Given the description of an element on the screen output the (x, y) to click on. 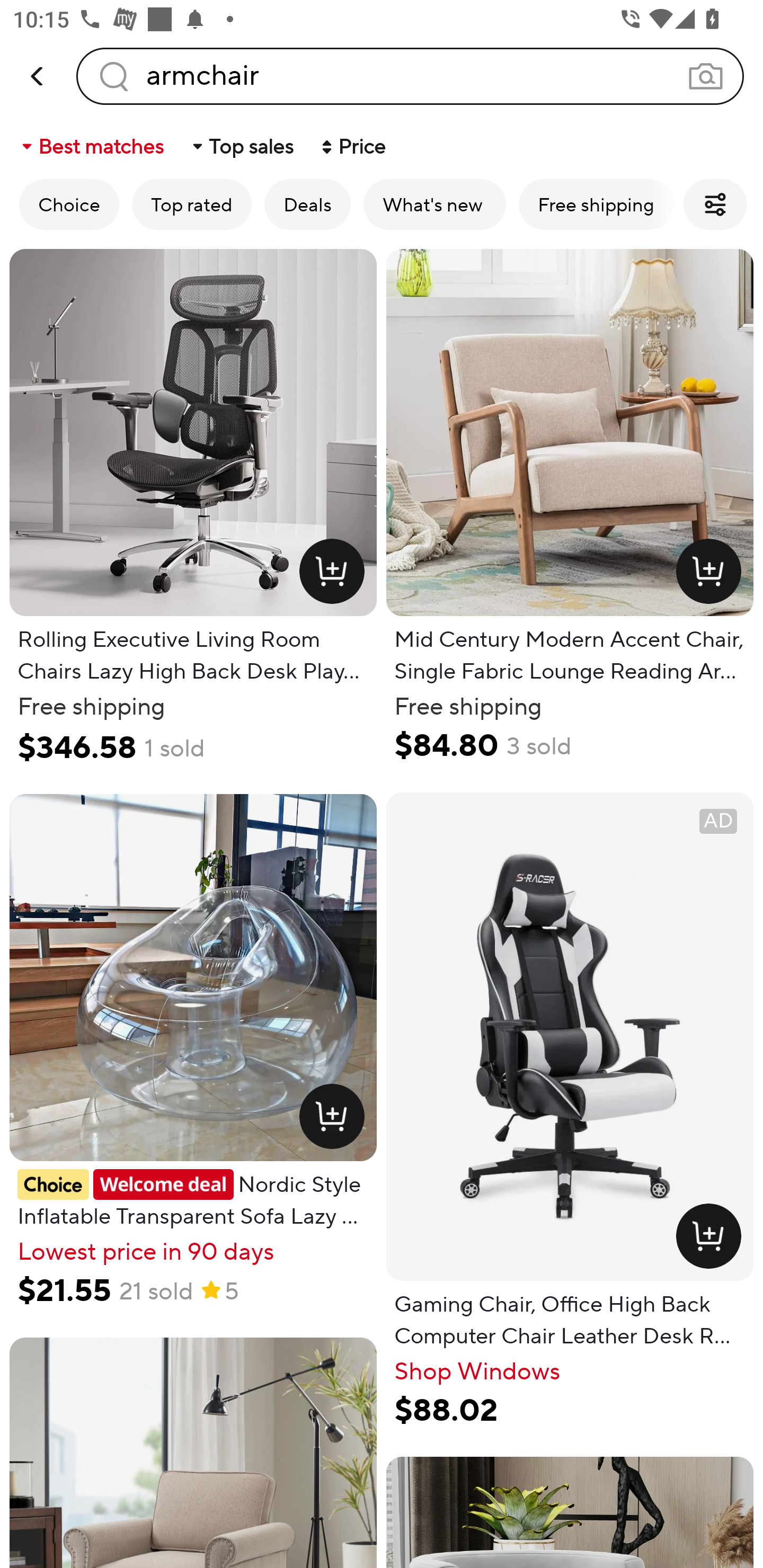
back (38, 75)
armchair Search query (409, 76)
armchair Search query (409, 76)
Best matches (91, 146)
Top sales (241, 146)
Price (352, 146)
Choice (69, 204)
Top rated (191, 204)
Deals (307, 204)
What's new  (434, 204)
Free shipping (595, 204)
